Given the description of an element on the screen output the (x, y) to click on. 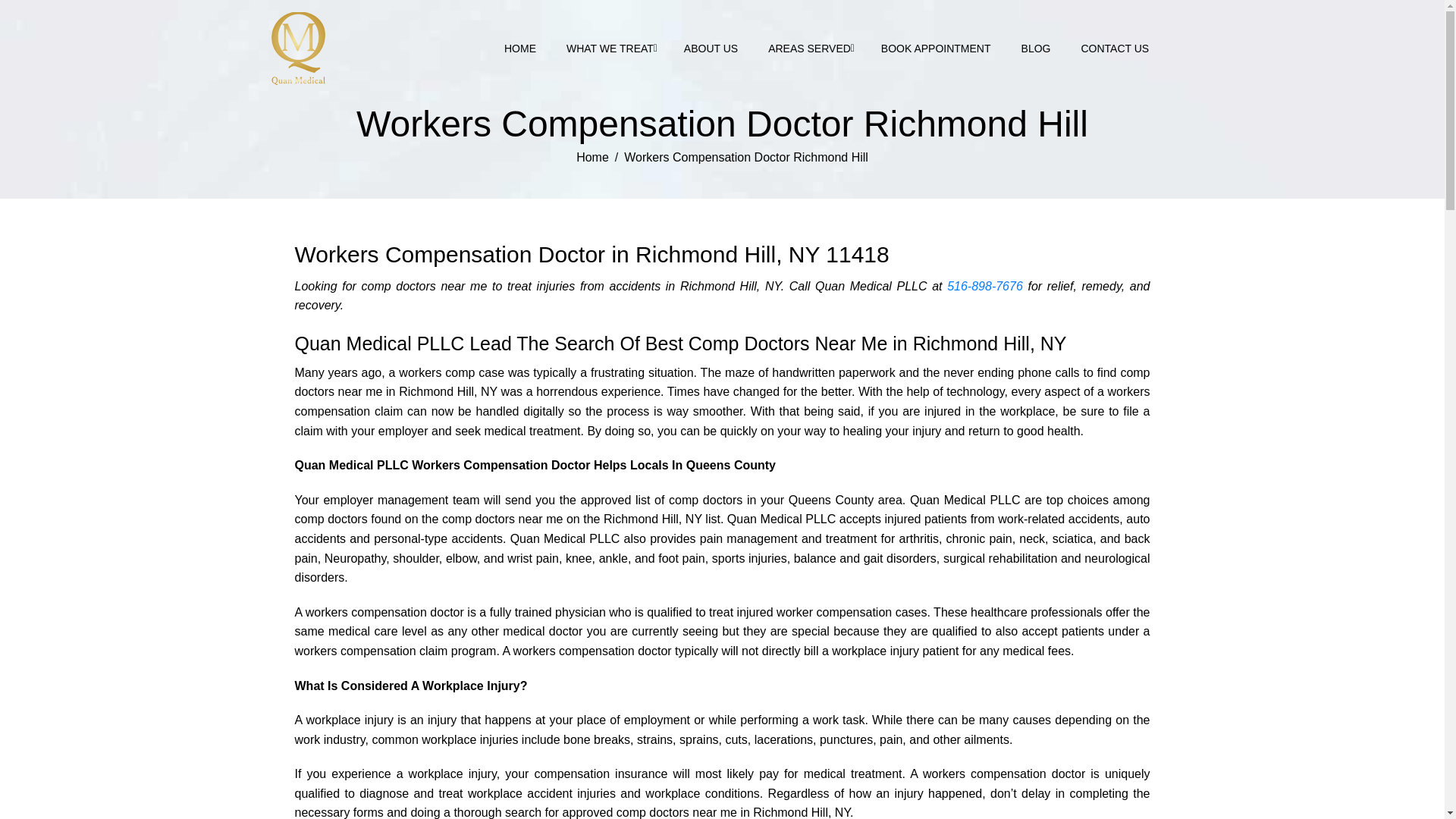
AREAS SERVED (809, 48)
WHAT WE TREAT (609, 48)
HOME (520, 48)
ABOUT US (710, 48)
